Given the description of an element on the screen output the (x, y) to click on. 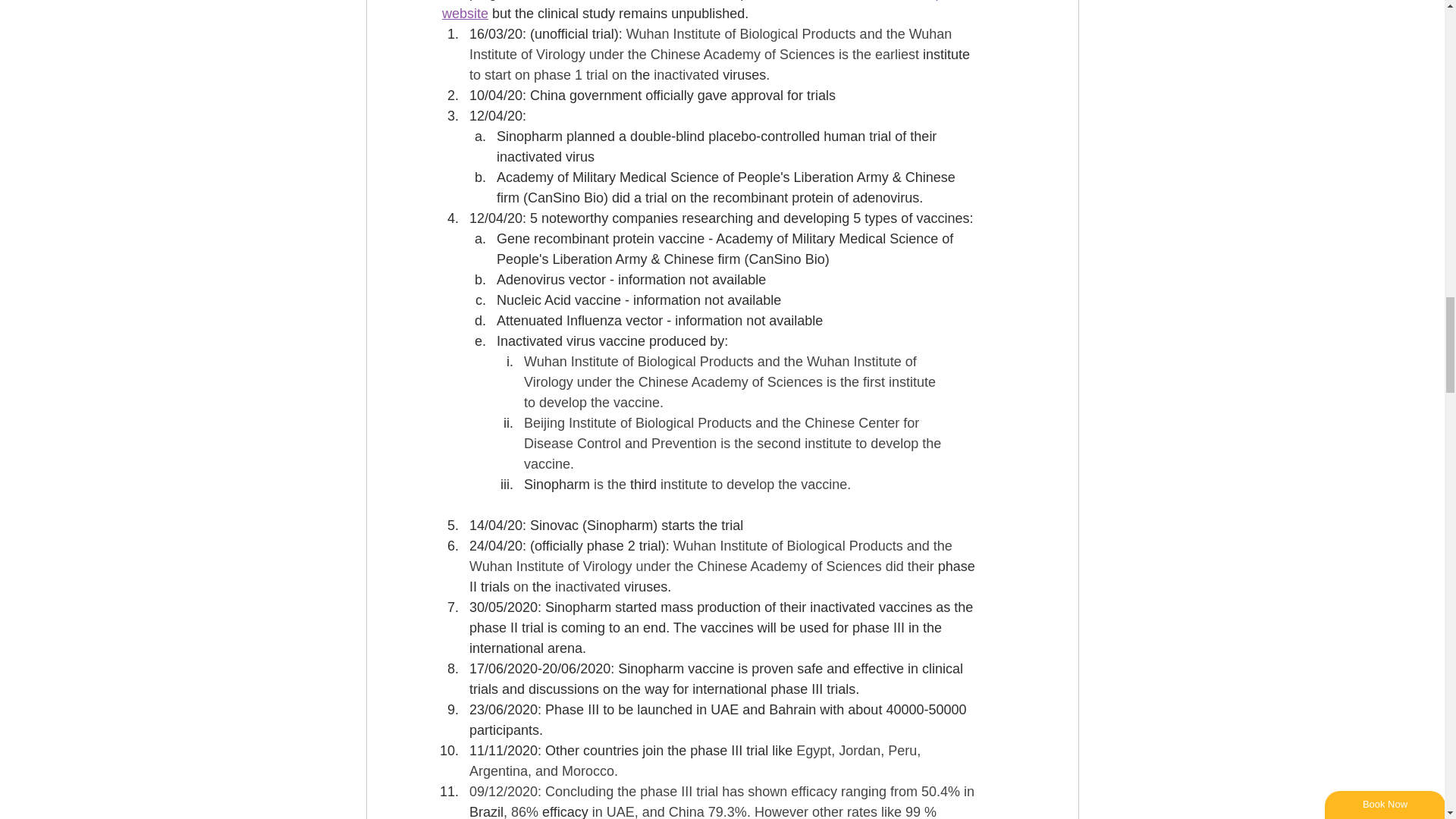
Sinopharm website (708, 10)
